Given the description of an element on the screen output the (x, y) to click on. 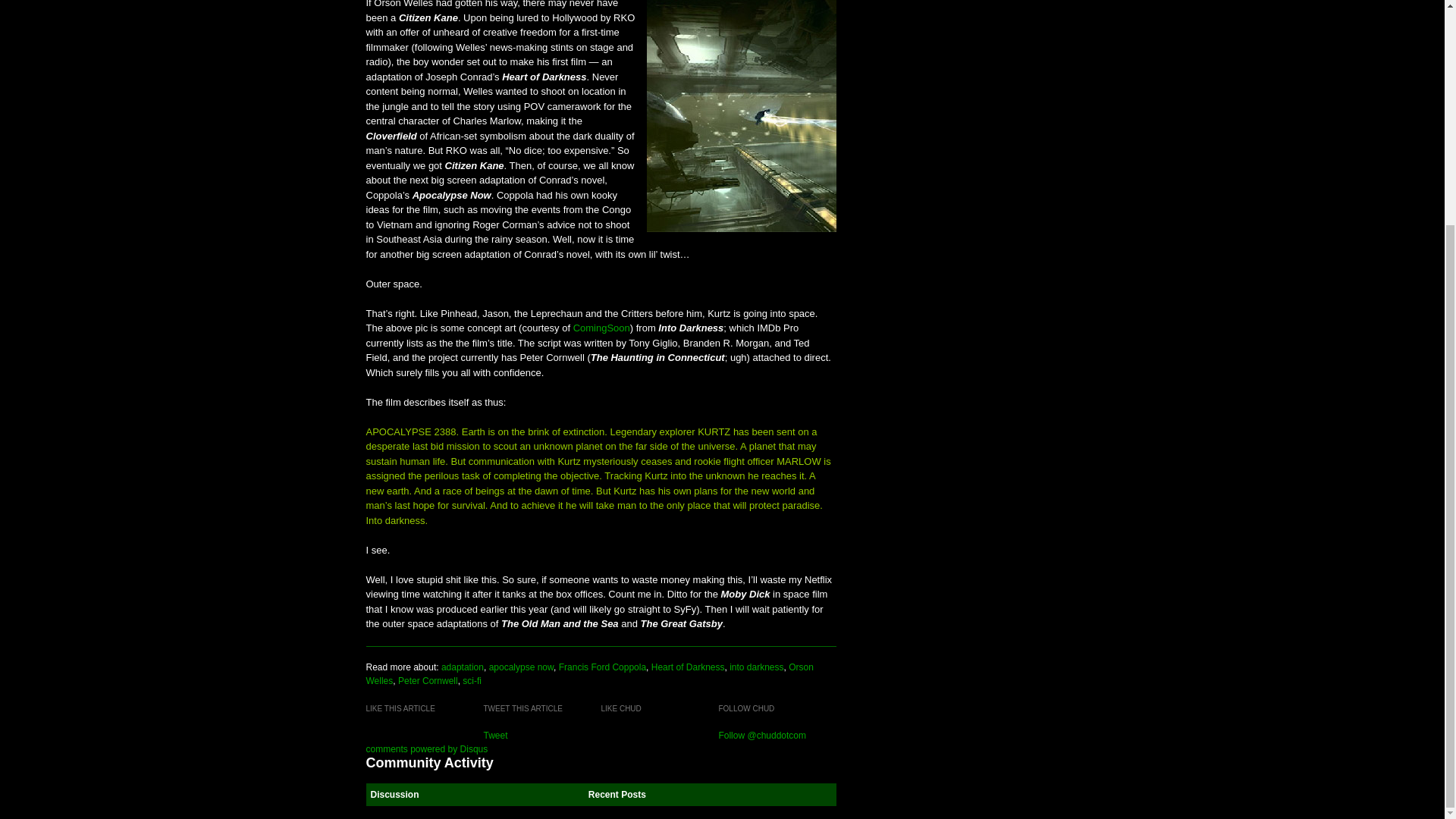
adaptation (462, 666)
Orson Welles (588, 673)
ComingSoon (601, 327)
sci-fi (472, 680)
apocalypse now (521, 666)
into darkness (756, 666)
Francis Ford Coppola (602, 666)
Tweet (494, 735)
comments powered by Disqus (426, 748)
Heart of Darkness (687, 666)
Peter Cornwell (427, 680)
